Given the description of an element on the screen output the (x, y) to click on. 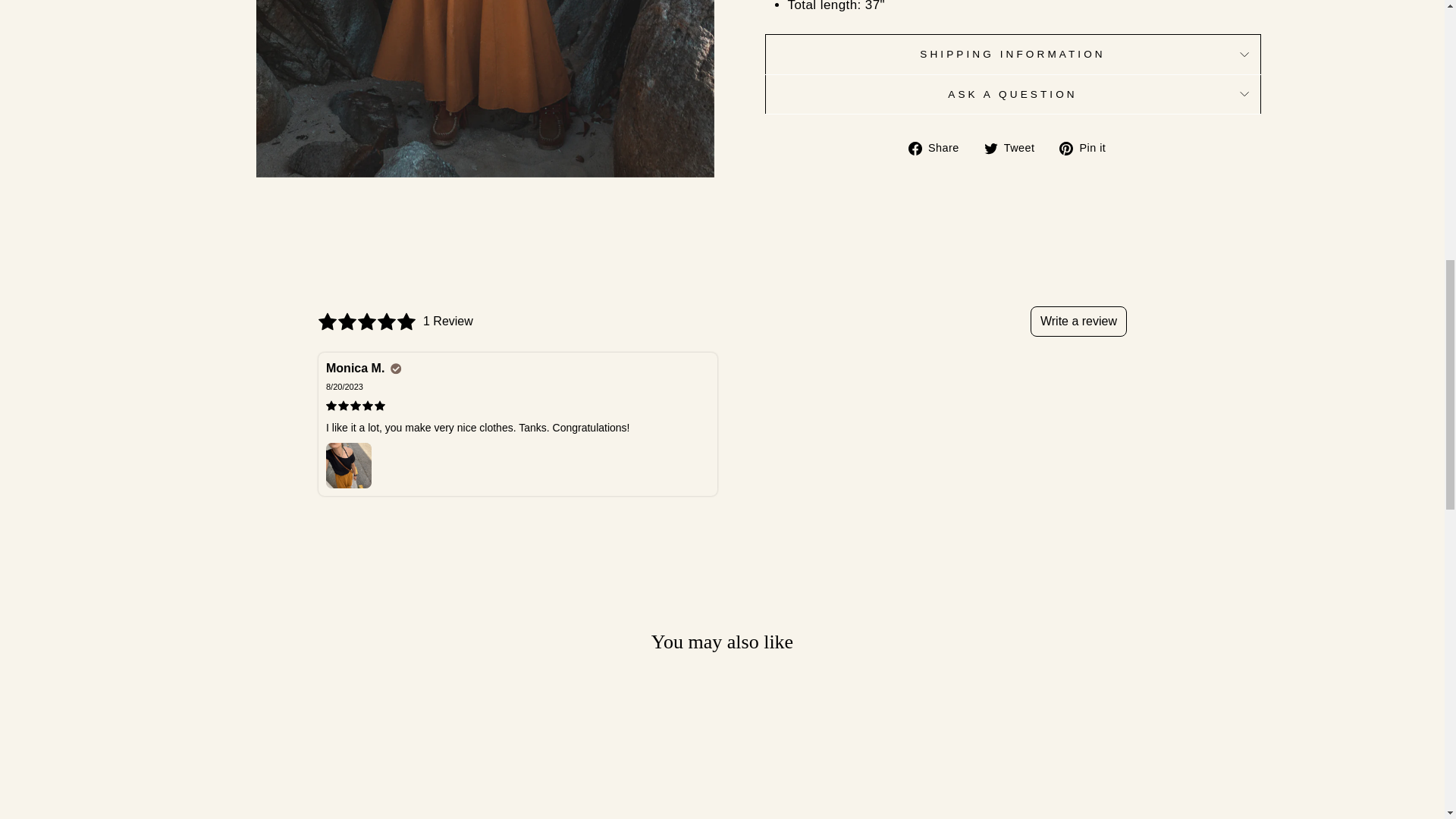
Share on Facebook (939, 147)
twitter (990, 148)
Pin on Pinterest (1087, 147)
Tweet on Twitter (1015, 147)
